Given the description of an element on the screen output the (x, y) to click on. 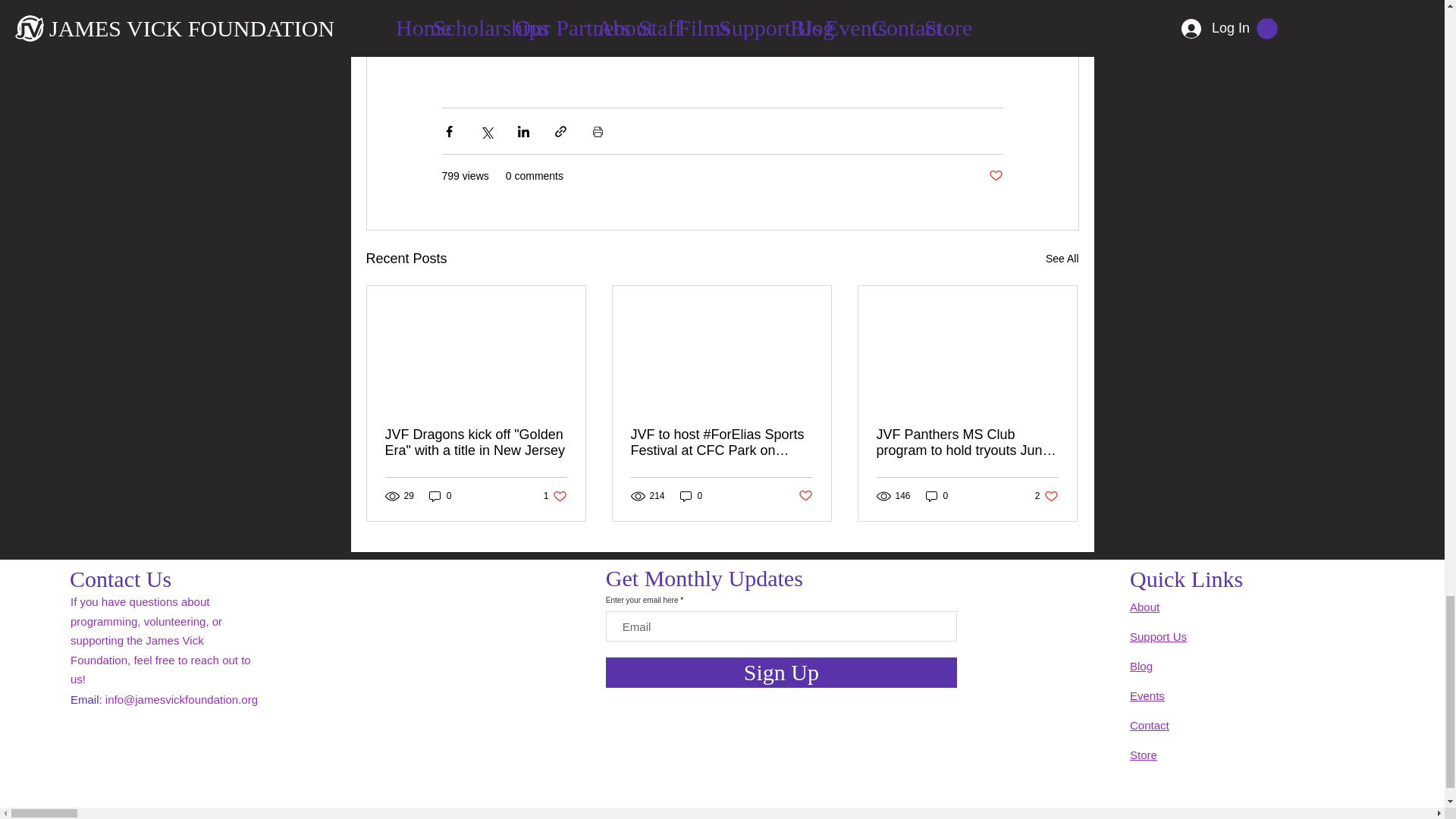
JVF Dragons kick off "Golden Era" with a title in New Jersey (476, 442)
0 (440, 495)
0 (555, 495)
See All (1046, 495)
0 (691, 495)
Post not marked as liked (1061, 259)
Post not marked as liked (937, 495)
